Given the description of an element on the screen output the (x, y) to click on. 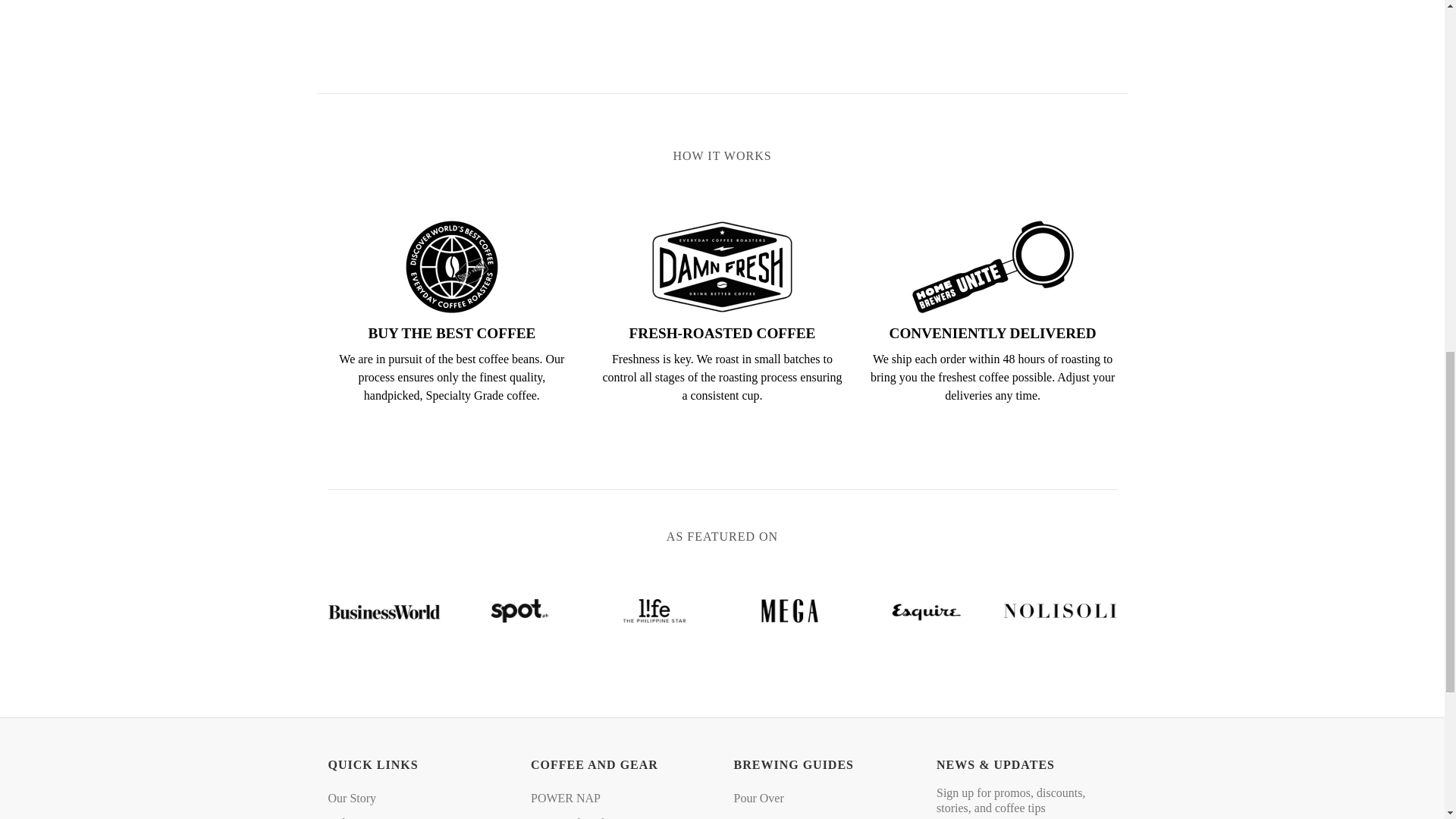
POWER NAP (565, 798)
Help Center (357, 816)
Artisan Chocolates (577, 816)
FAQ (357, 816)
Our Story (351, 798)
About Everyday Coffee Roasters (351, 798)
